Given the description of an element on the screen output the (x, y) to click on. 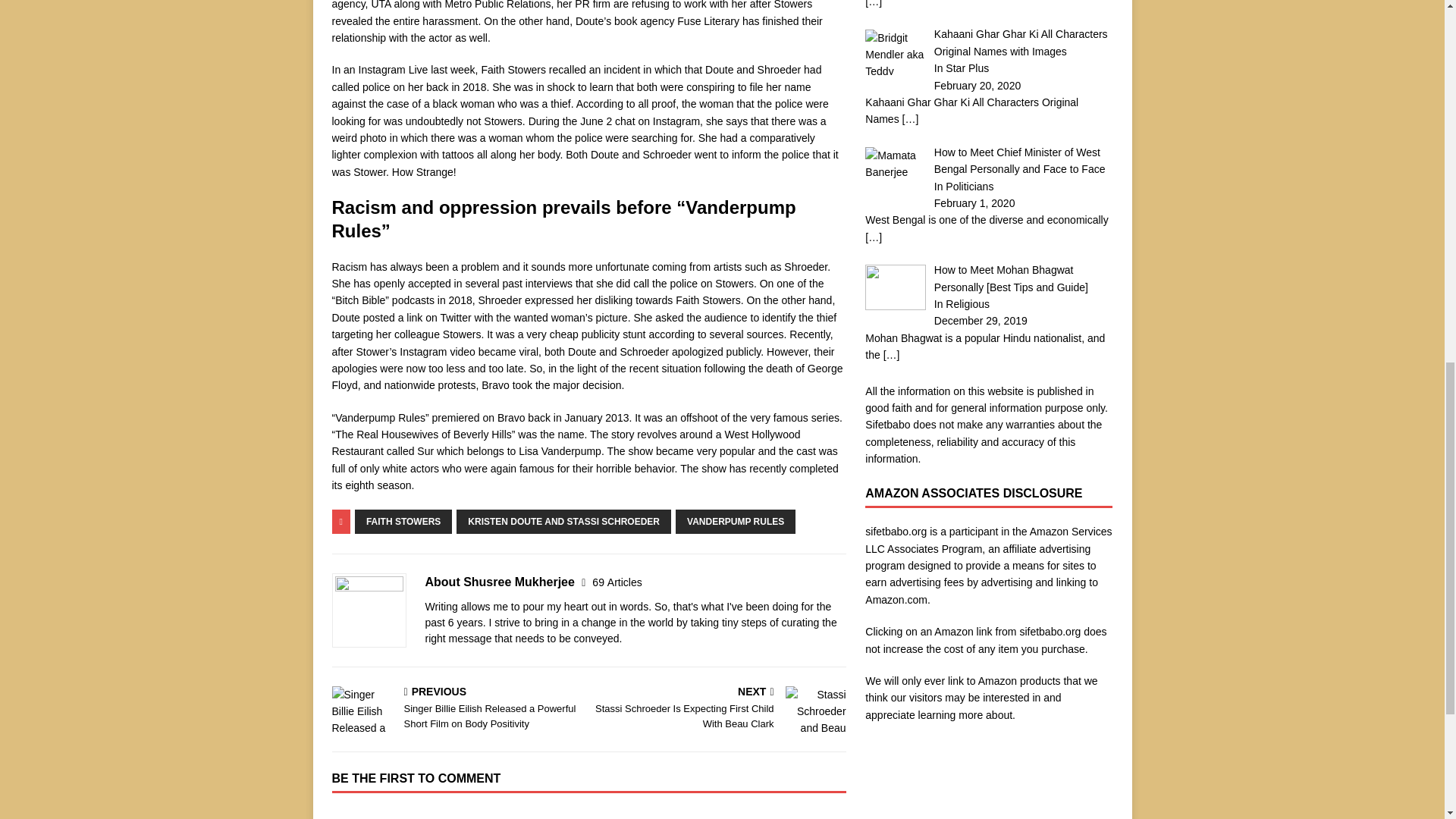
69 Articles (617, 582)
KRISTEN DOUTE AND STASSI SCHROEDER (564, 521)
FAITH STOWERS (403, 521)
More articles written by Shusree Mukherjee' (617, 582)
VANDERPUMP RULES (734, 521)
